Given the description of an element on the screen output the (x, y) to click on. 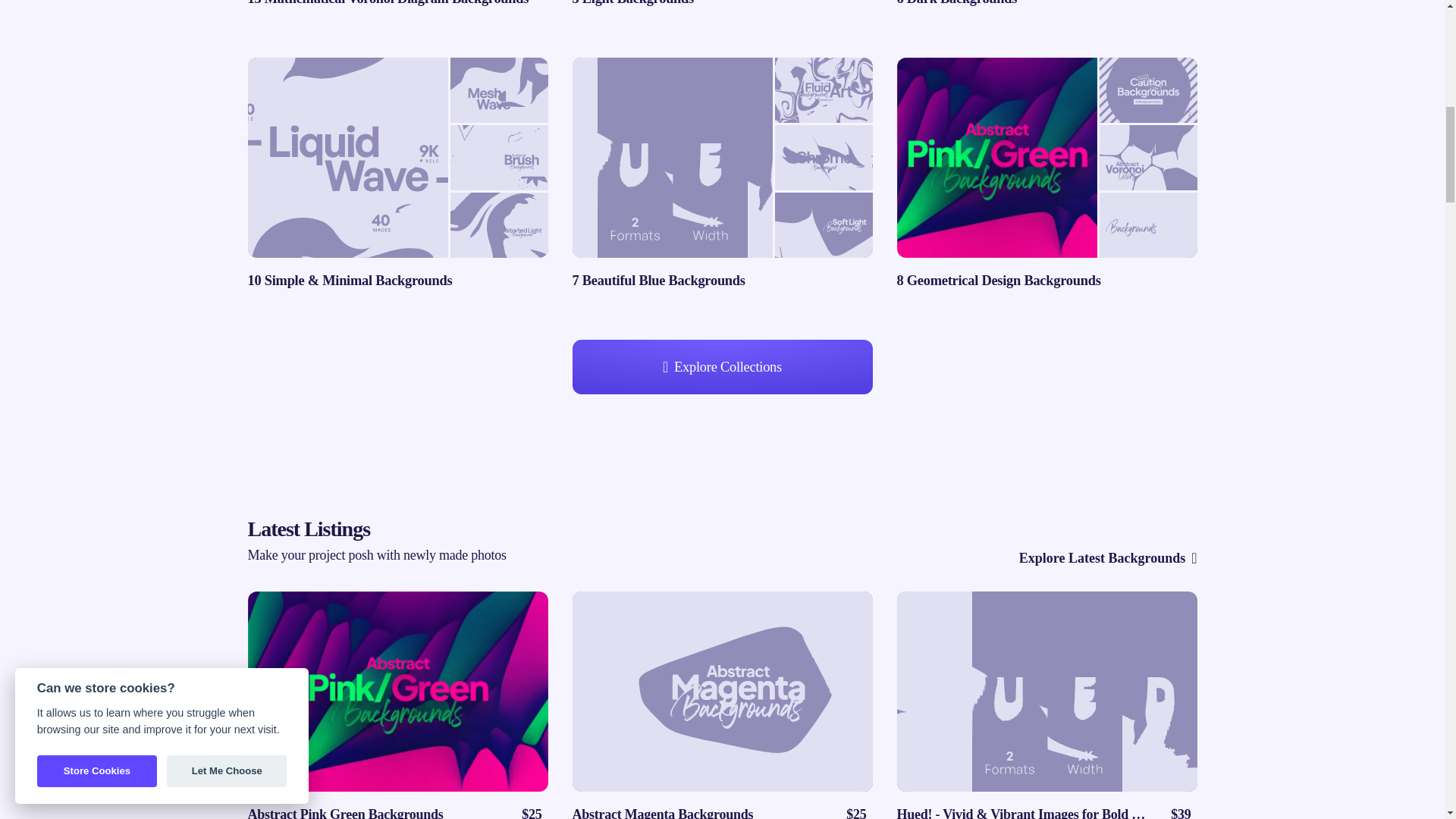
7 Beautiful Blue Backgrounds (722, 174)
6 Dark Backgrounds (1046, 4)
8 Geometrical Design Backgrounds (1046, 174)
13 Mathematical Voronoi Diagram Backgrounds (397, 4)
Explore Latest Backgrounds (1107, 557)
5 Light Backgrounds (722, 4)
Explore Collections (722, 366)
